Given the description of an element on the screen output the (x, y) to click on. 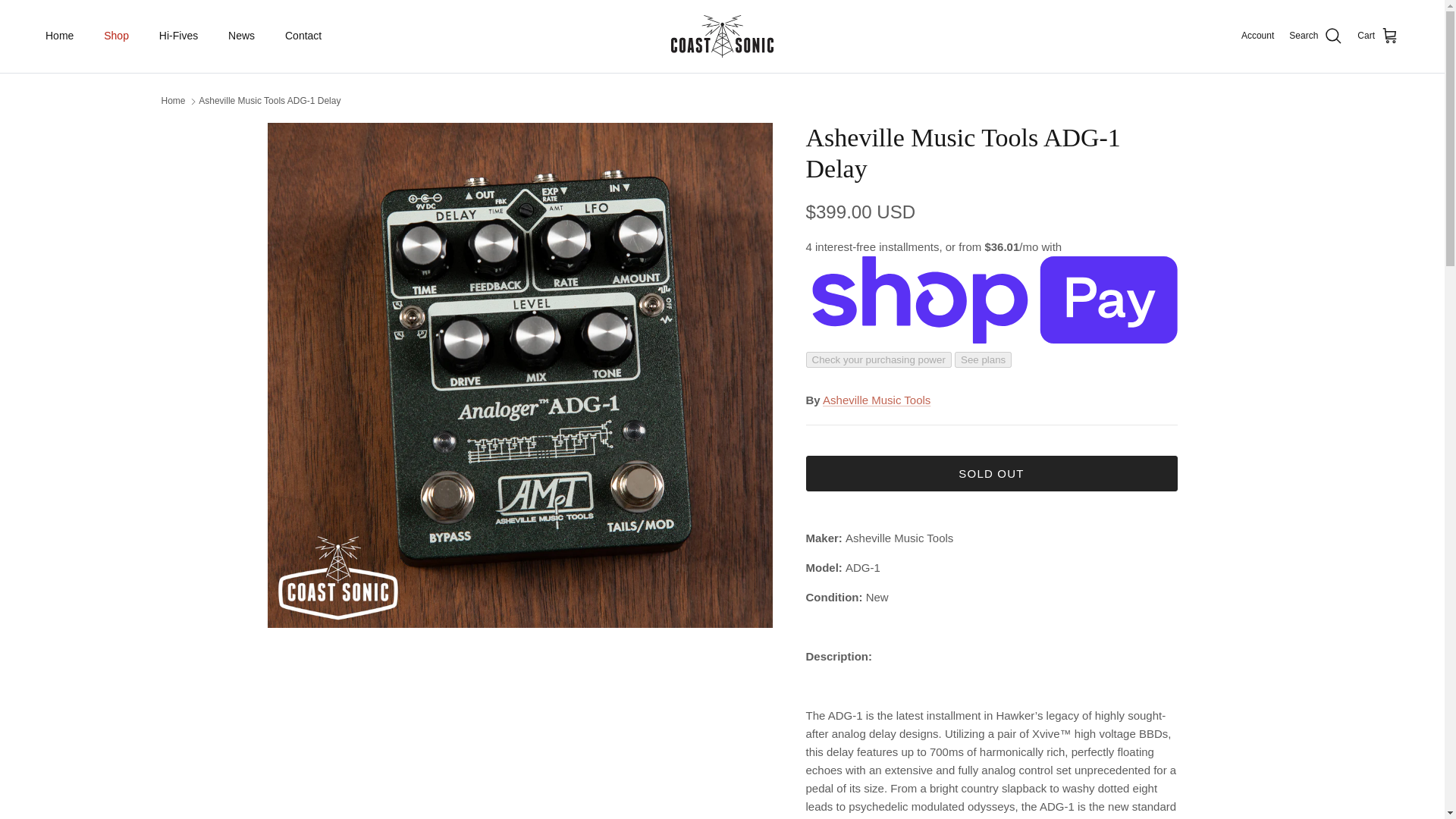
Cart (1377, 35)
Shop (116, 35)
Asheville Music Tools (876, 399)
Search (1315, 35)
Asheville Music Tools ADG-1 Delay (269, 100)
Hi-Fives (178, 35)
Account (1257, 35)
Contact (302, 35)
Home (59, 35)
SOLD OUT (990, 473)
Home (172, 100)
Coast Sonic (722, 36)
News (240, 35)
